Given the description of an element on the screen output the (x, y) to click on. 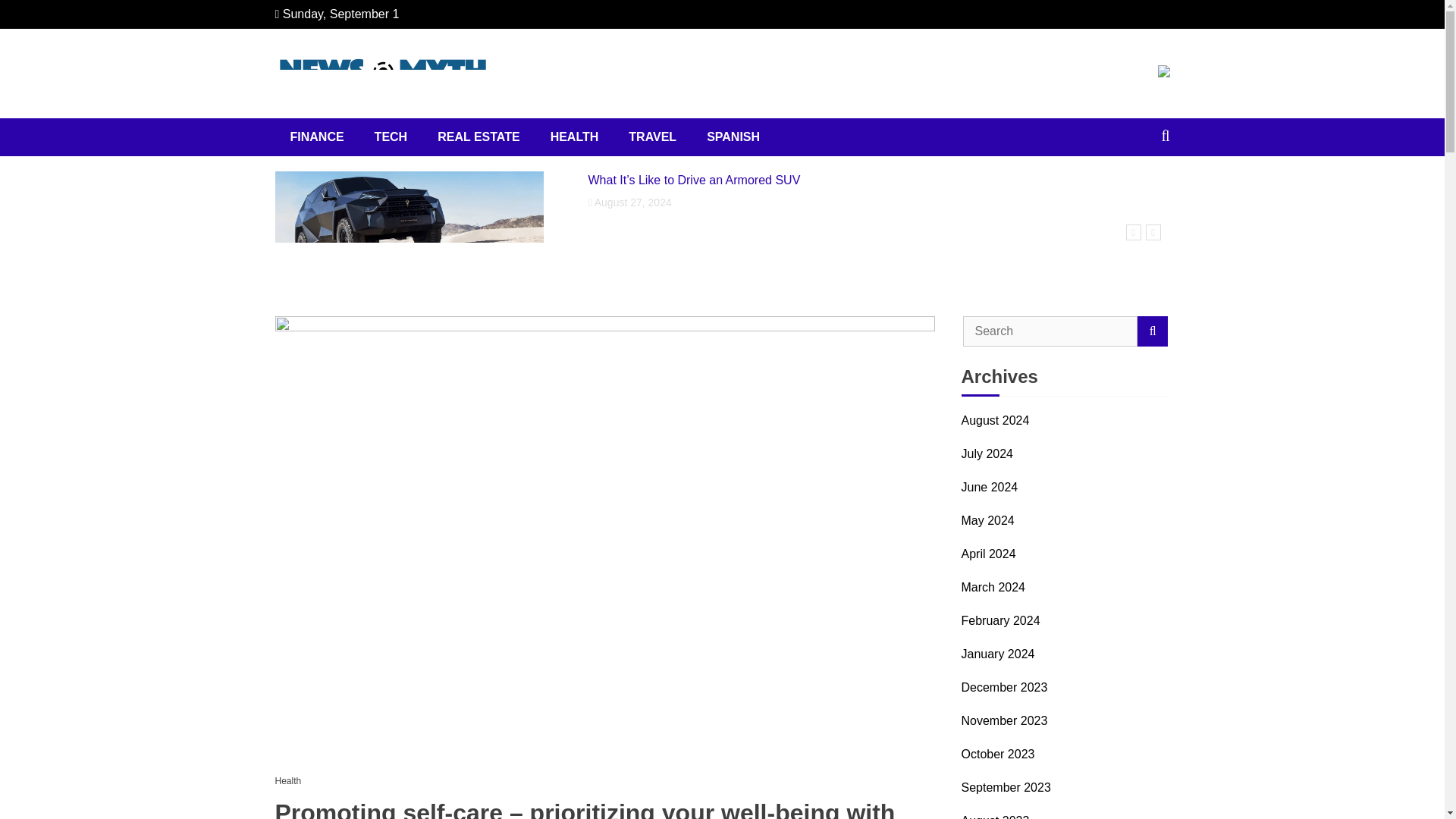
News Myth (353, 121)
SPANISH (732, 136)
TECH (391, 136)
REAL ESTATE (478, 136)
FINANCE (316, 136)
July 2024 (986, 454)
August 27, 2024 (879, 202)
Health (291, 780)
HEALTH (574, 136)
June 2024 (988, 487)
